Given the description of an element on the screen output the (x, y) to click on. 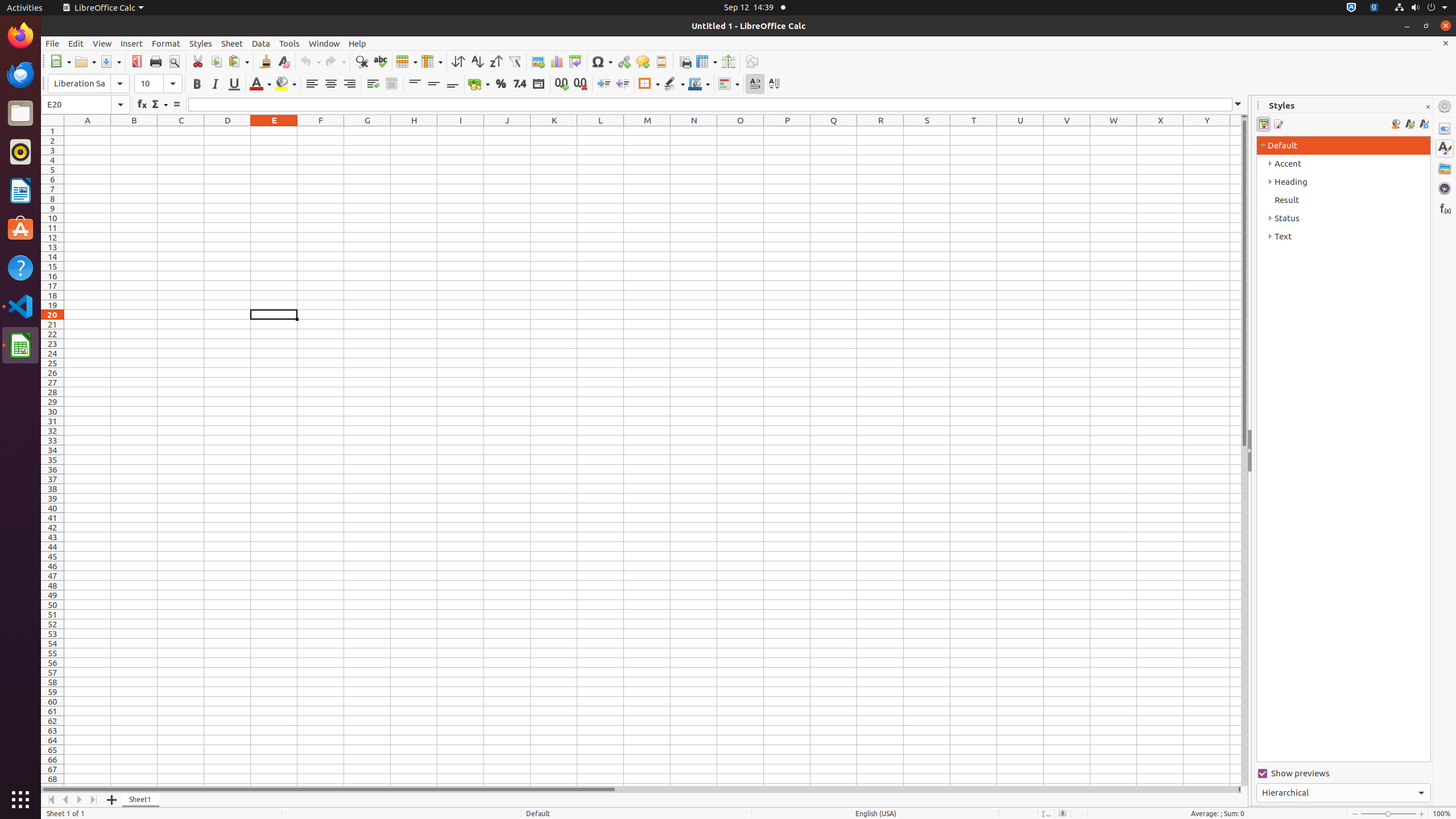
Functions Element type: radio-button (1444, 208)
Background Color Element type: push-button (285, 83)
Print Element type: push-button (155, 61)
Move To End Element type: push-button (94, 799)
Move To Home Element type: push-button (51, 799)
